Given the description of an element on the screen output the (x, y) to click on. 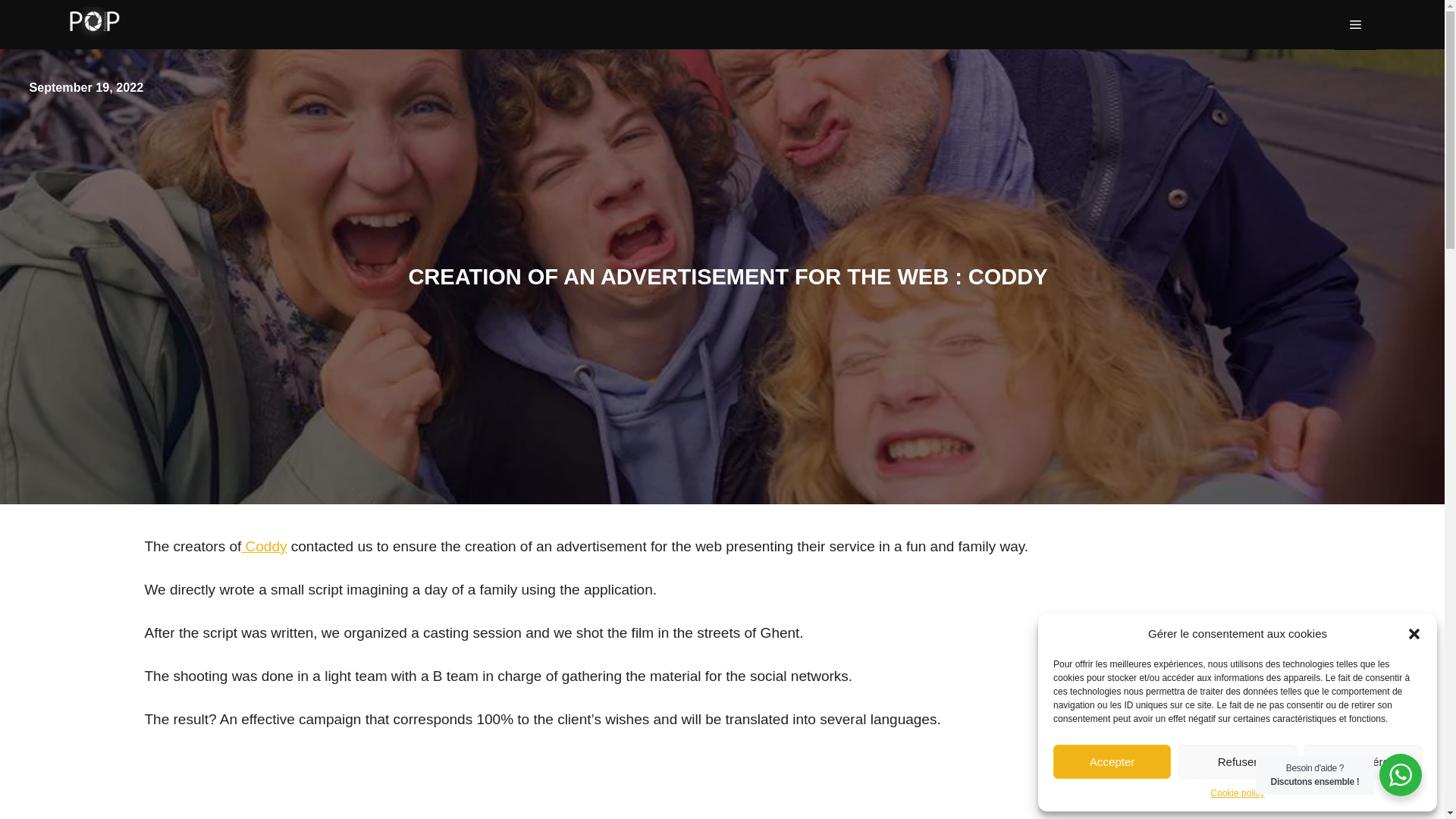
Refuser (1236, 761)
Accepter (1111, 761)
Coddy (263, 546)
Cookie policy (1236, 793)
